Given the description of an element on the screen output the (x, y) to click on. 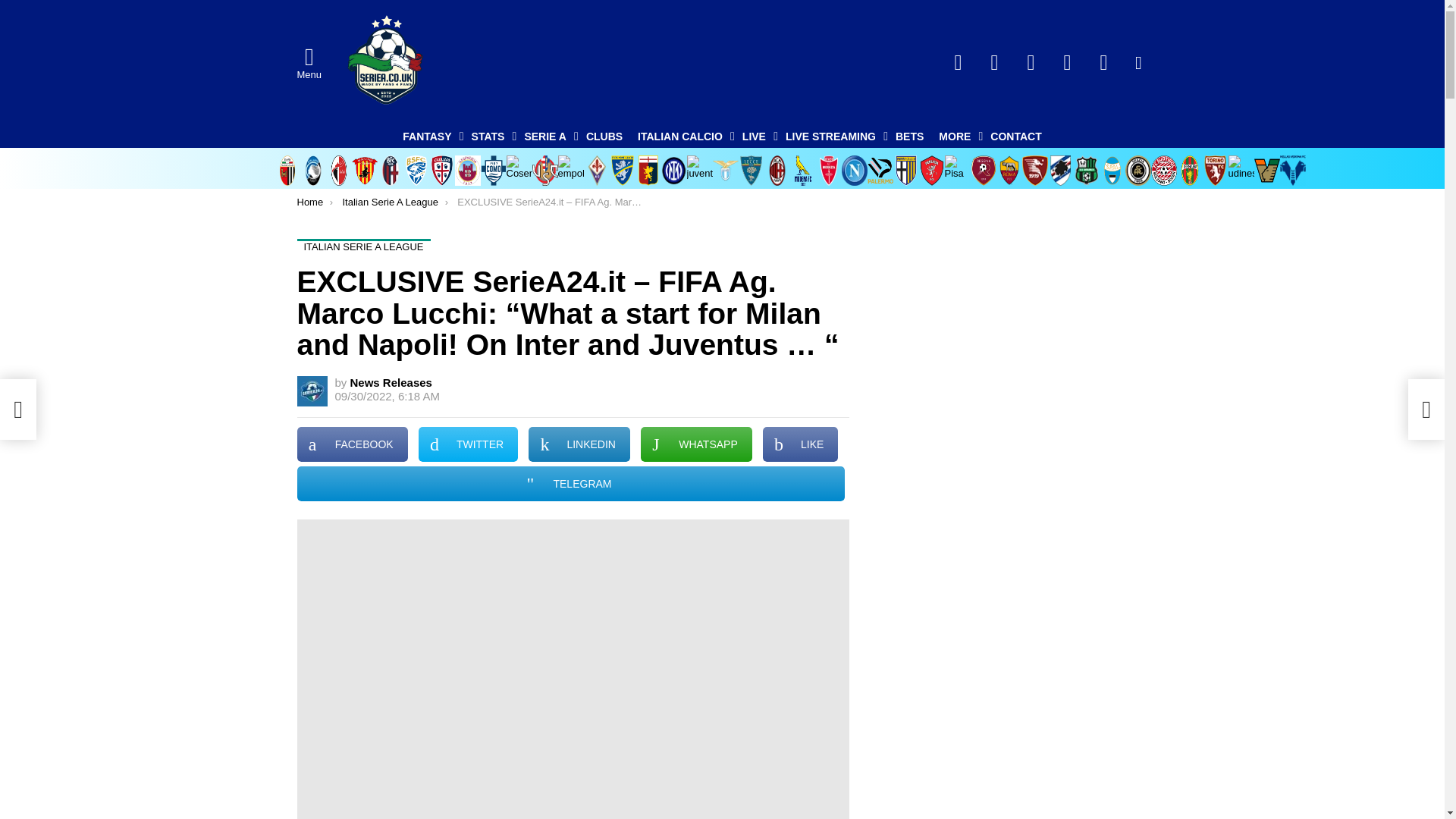
STATS (490, 136)
Share on Telegram (570, 483)
Share on Facebook (352, 443)
Share on Like (800, 443)
Share on WhatsApp (696, 443)
Linkedin (1067, 62)
Instagram (1104, 62)
Telegram (1031, 62)
Share on Twitter (468, 443)
SERIE A (547, 136)
